Given the description of an element on the screen output the (x, y) to click on. 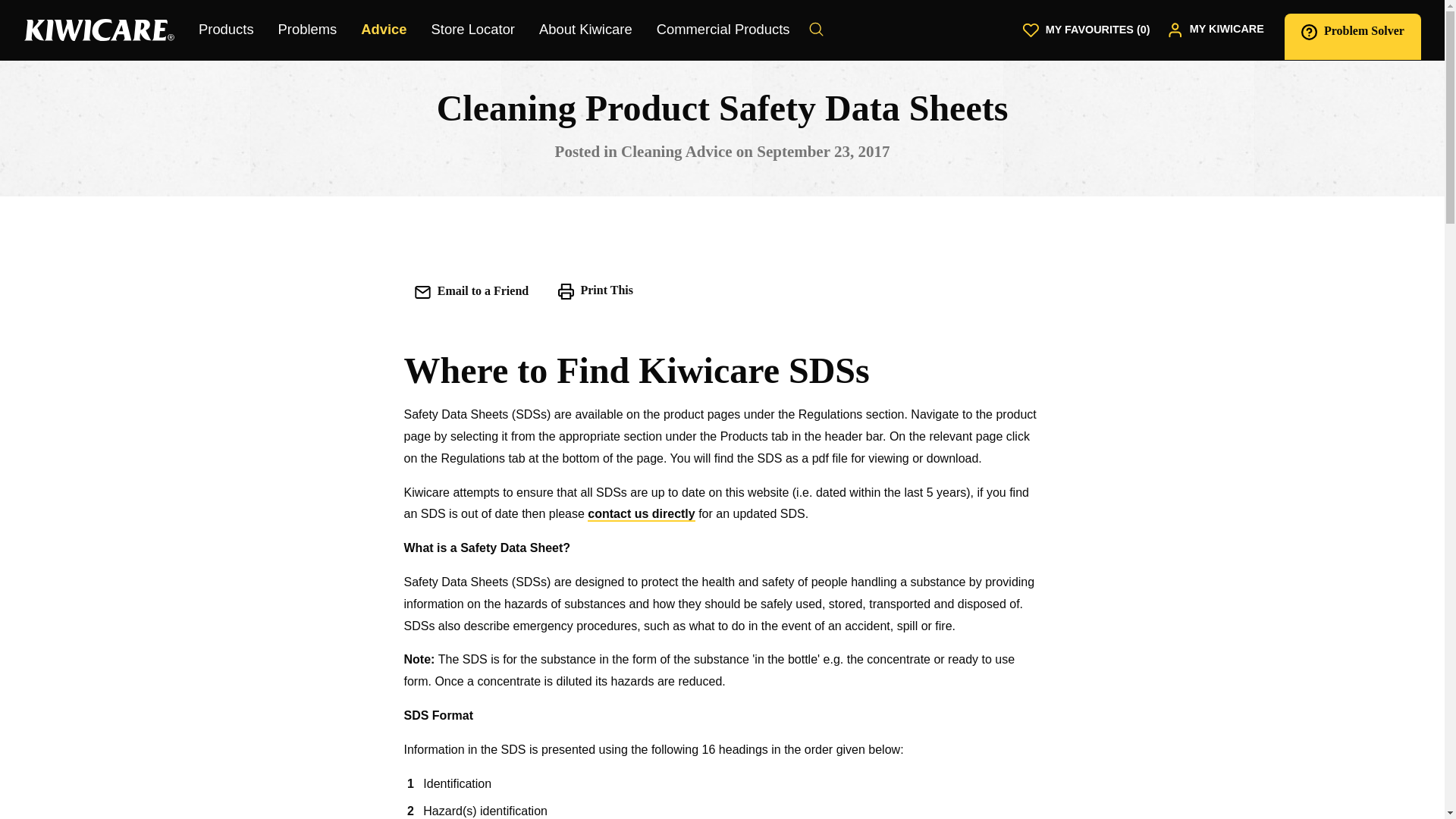
 Contact Us (641, 513)
Products (226, 29)
